Given the description of an element on the screen output the (x, y) to click on. 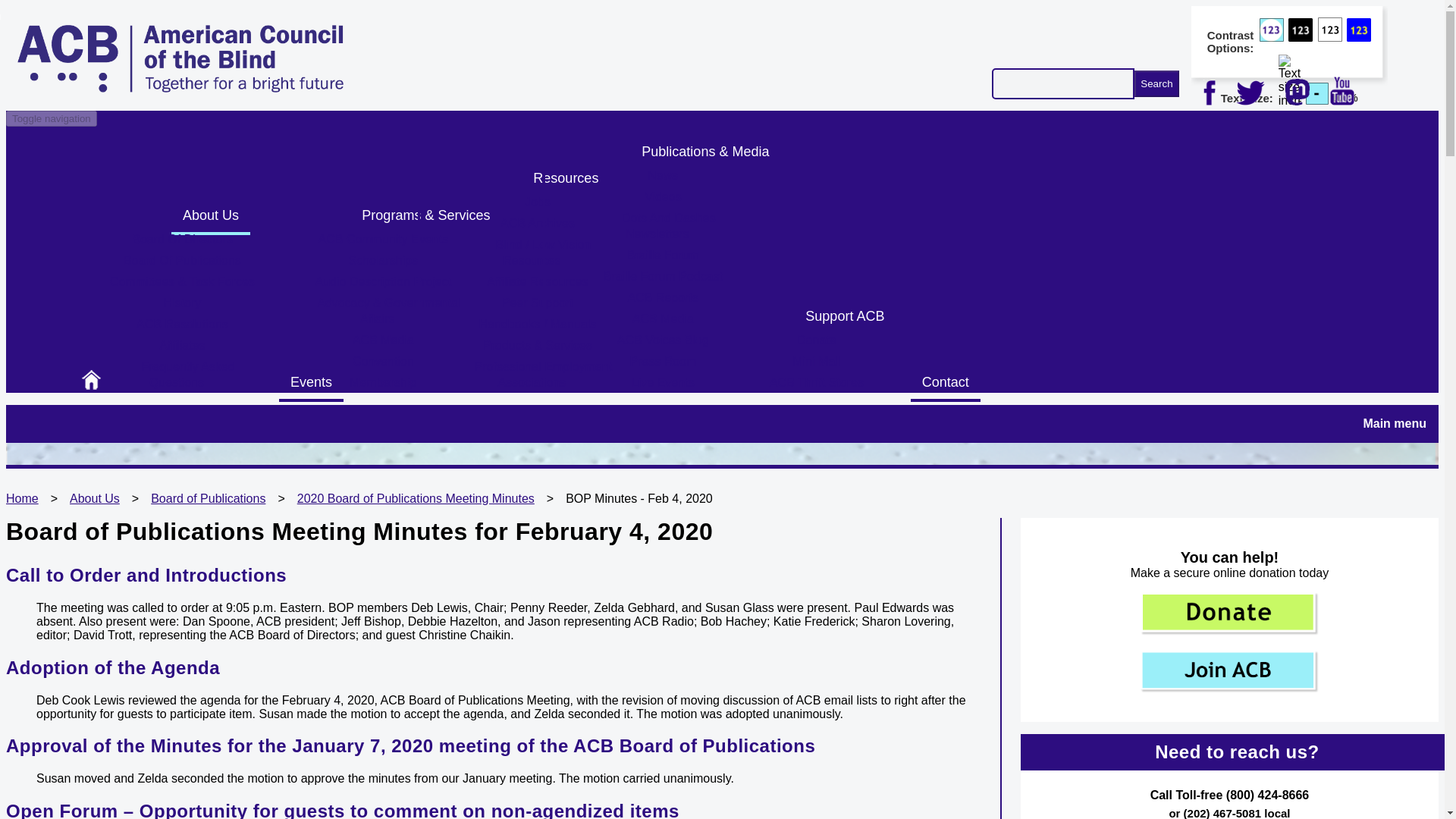
Affiliates (181, 350)
Board Of Directors (181, 243)
History (182, 307)
Toggle navigation (51, 118)
Board Of Publications (181, 264)
Home (180, 88)
Professional Employment Associations (537, 379)
Jobs (537, 206)
Braille Forum (662, 259)
Events (311, 383)
ACB Resolutions (182, 328)
Search (1155, 83)
ACB Archives (537, 228)
About Us (210, 217)
Membership (382, 386)
